Given the description of an element on the screen output the (x, y) to click on. 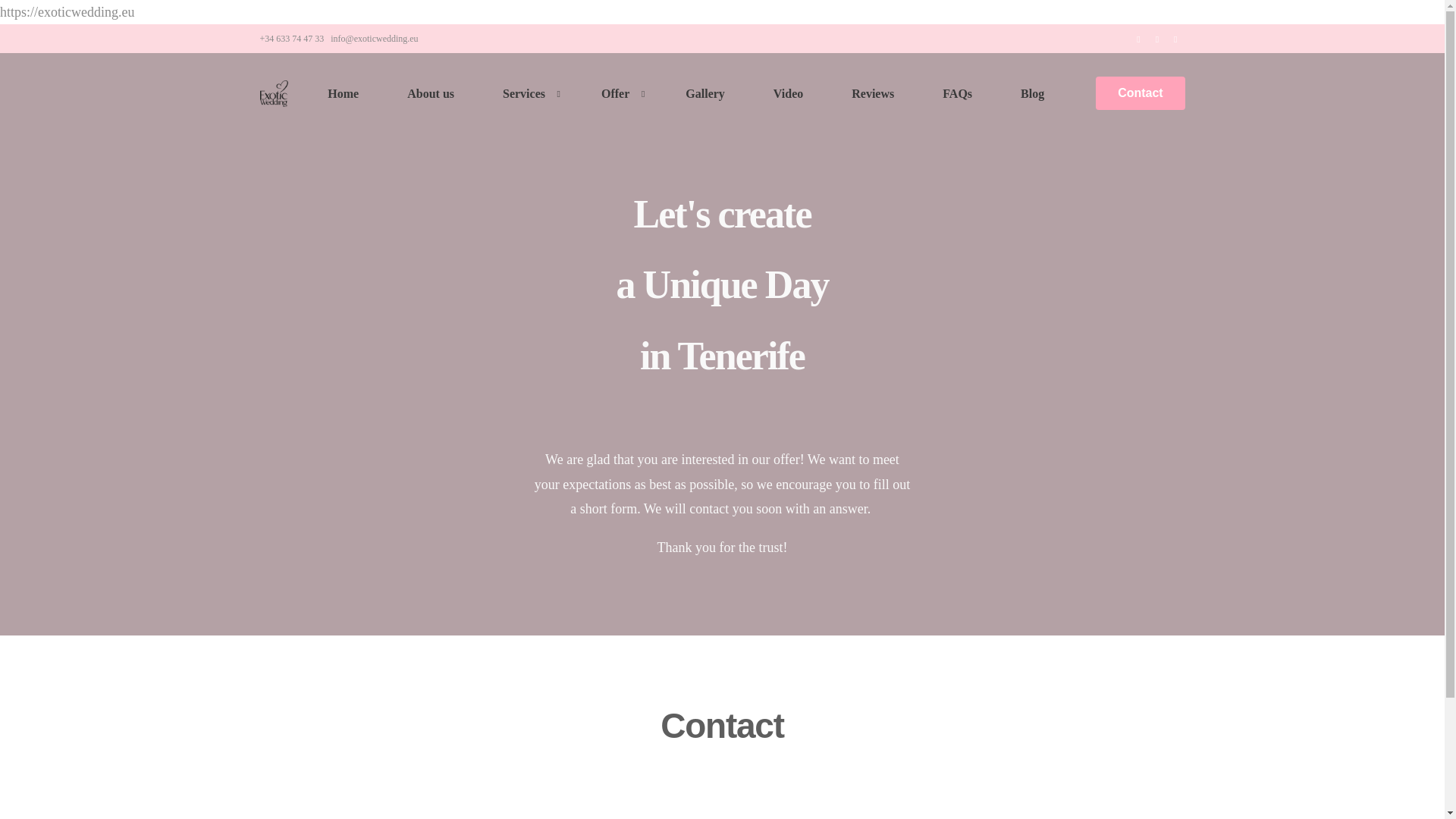
About us (430, 93)
Contact (1140, 92)
Video (788, 93)
Gallery (705, 93)
Offer (618, 93)
FAQs (956, 93)
Services (527, 93)
Home (342, 93)
Reviews (872, 93)
